Given the description of an element on the screen output the (x, y) to click on. 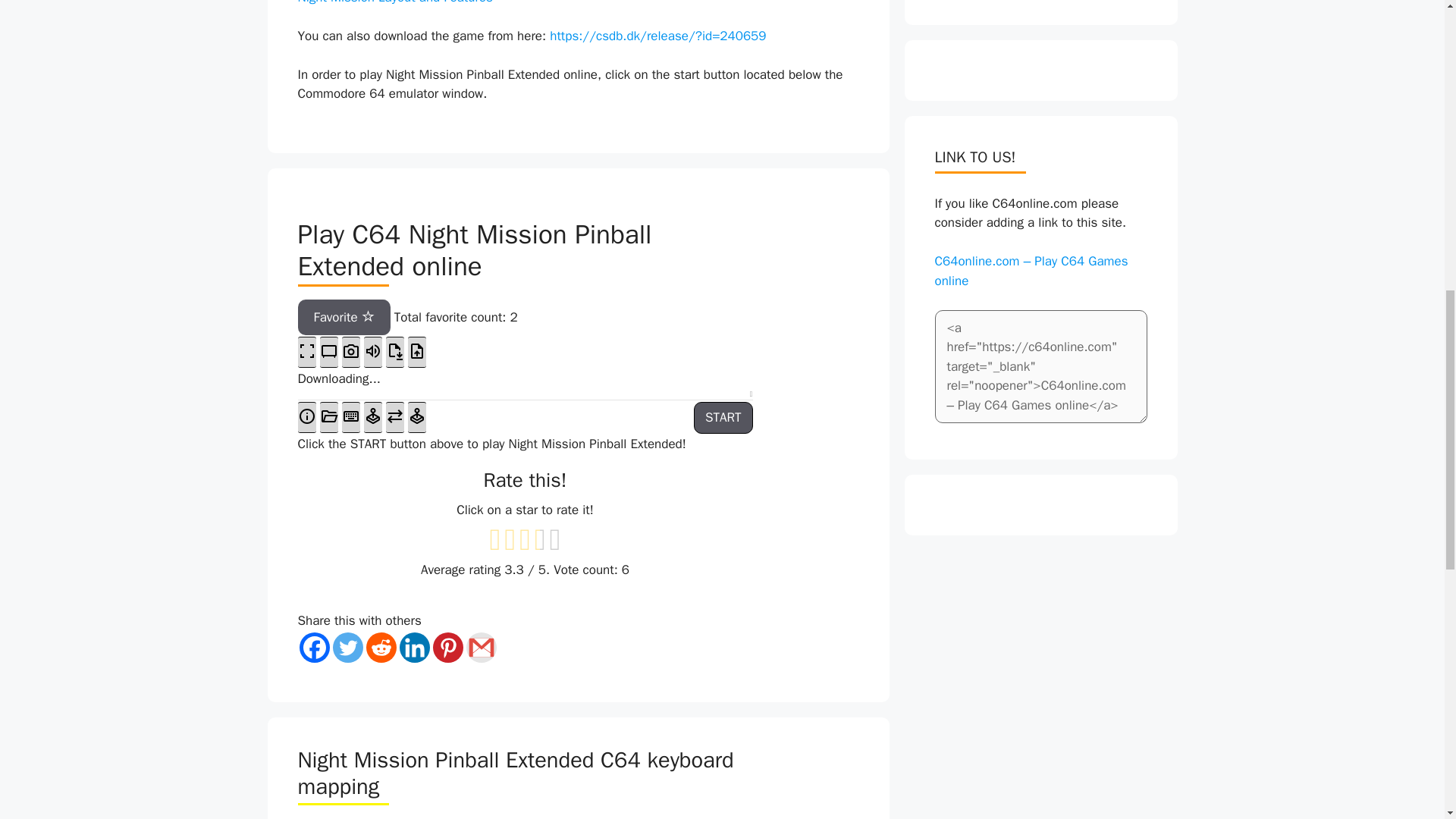
Start Night Mission Pinball Extended (723, 418)
START (723, 418)
Favorite (343, 317)
Night Mission Layout and Features (394, 2)
